Given the description of an element on the screen output the (x, y) to click on. 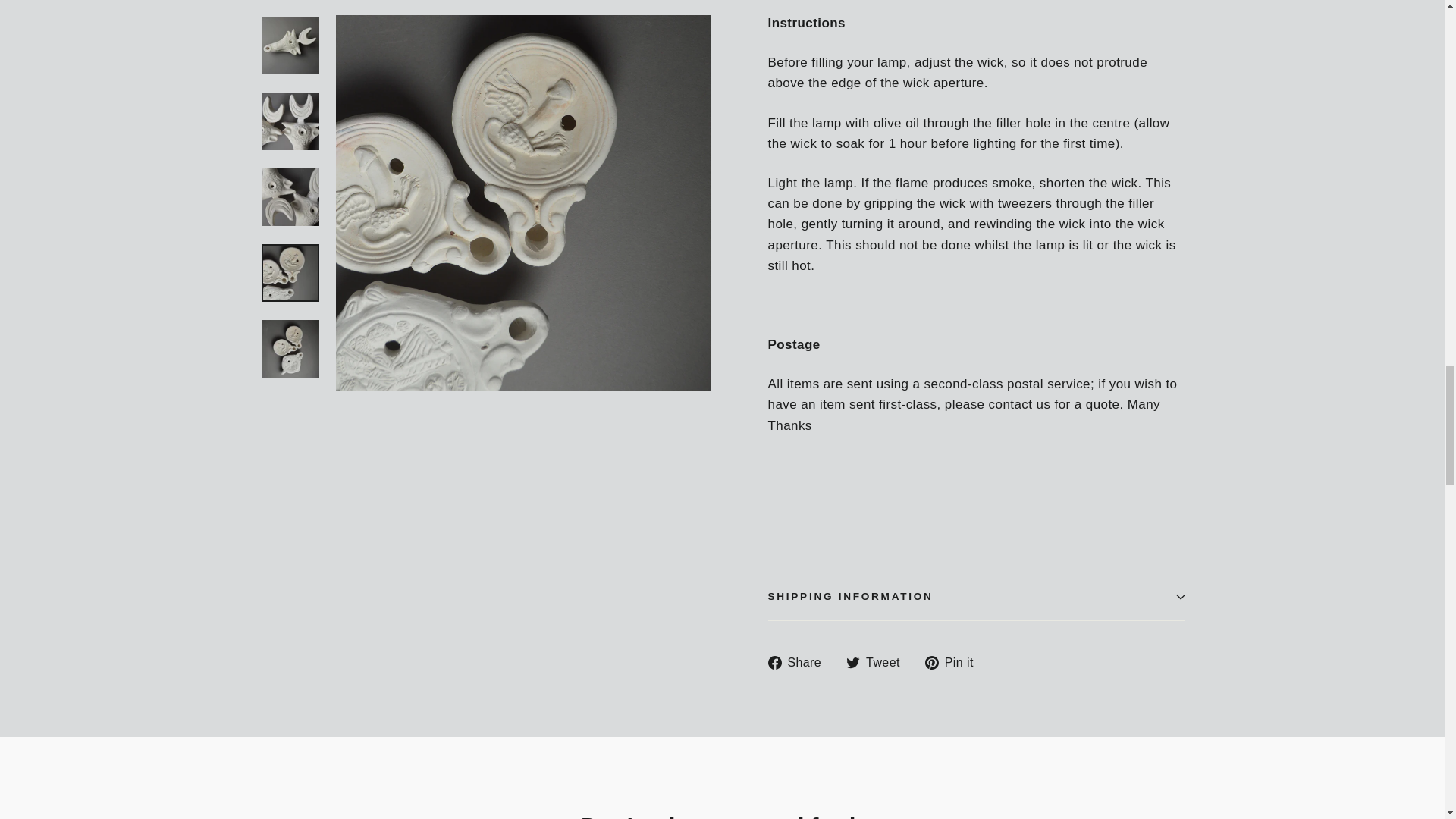
Share on Facebook (799, 661)
Pin on Pinterest (954, 661)
twitter (852, 662)
Tweet on Twitter (878, 661)
